Given the description of an element on the screen output the (x, y) to click on. 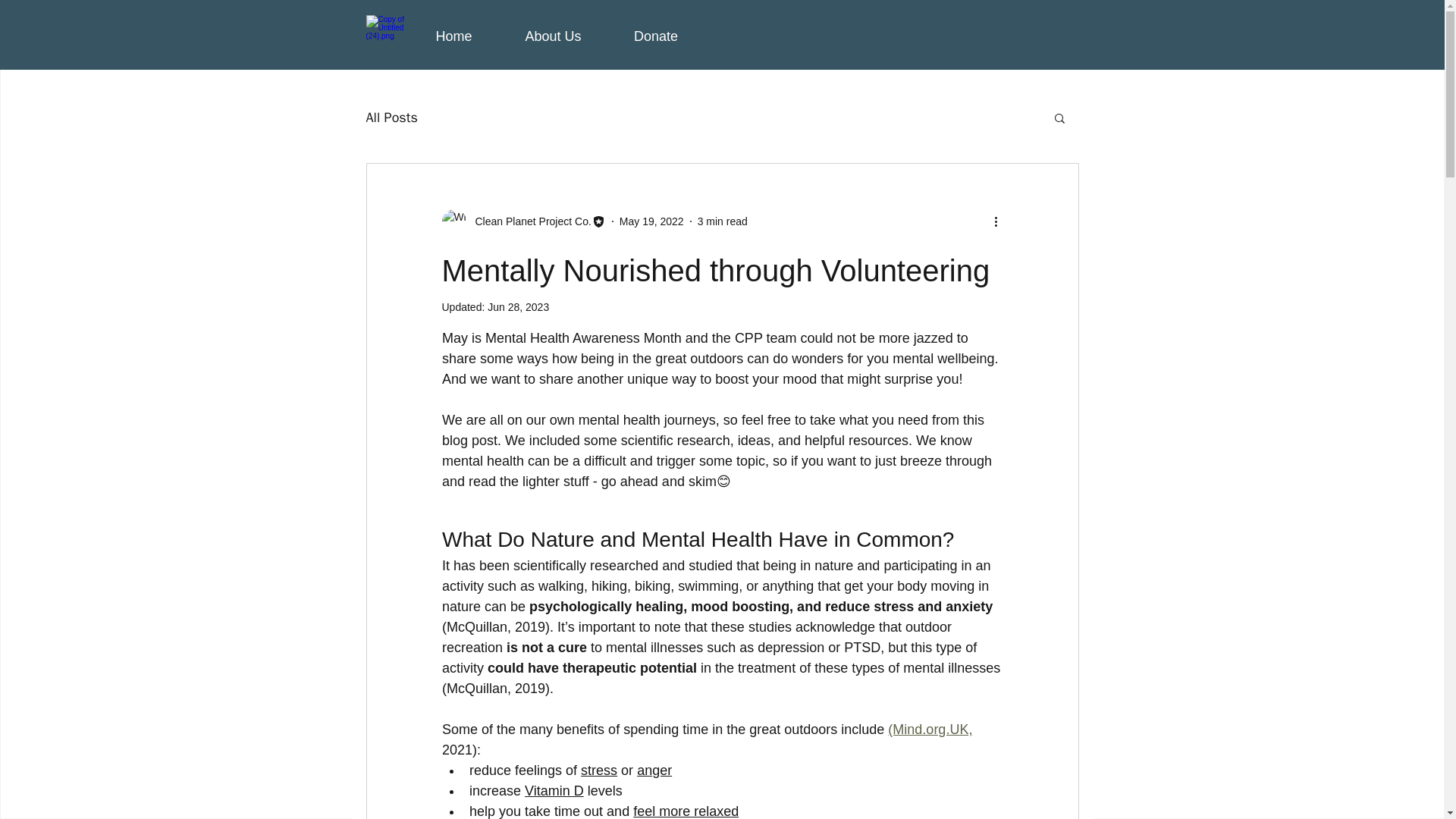
Jun 28, 2023 (517, 306)
Clean Planet Project Co. (528, 221)
Home (454, 36)
3 min read (722, 221)
All Posts (390, 117)
May 19, 2022 (652, 221)
Clean Planet Project Co. (523, 221)
Donate (656, 36)
